Given the description of an element on the screen output the (x, y) to click on. 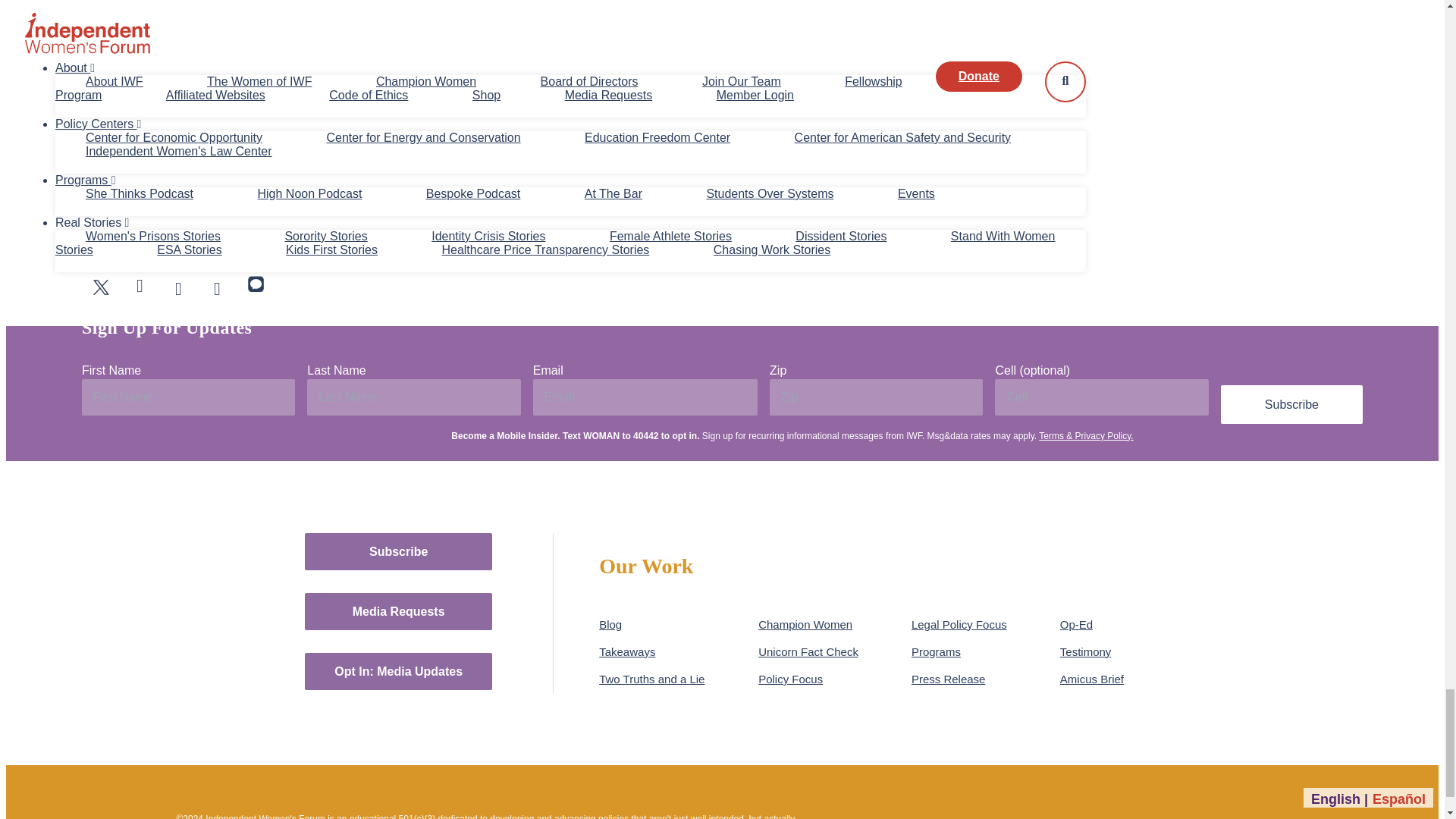
Subscribe (1291, 404)
